Given the description of an element on the screen output the (x, y) to click on. 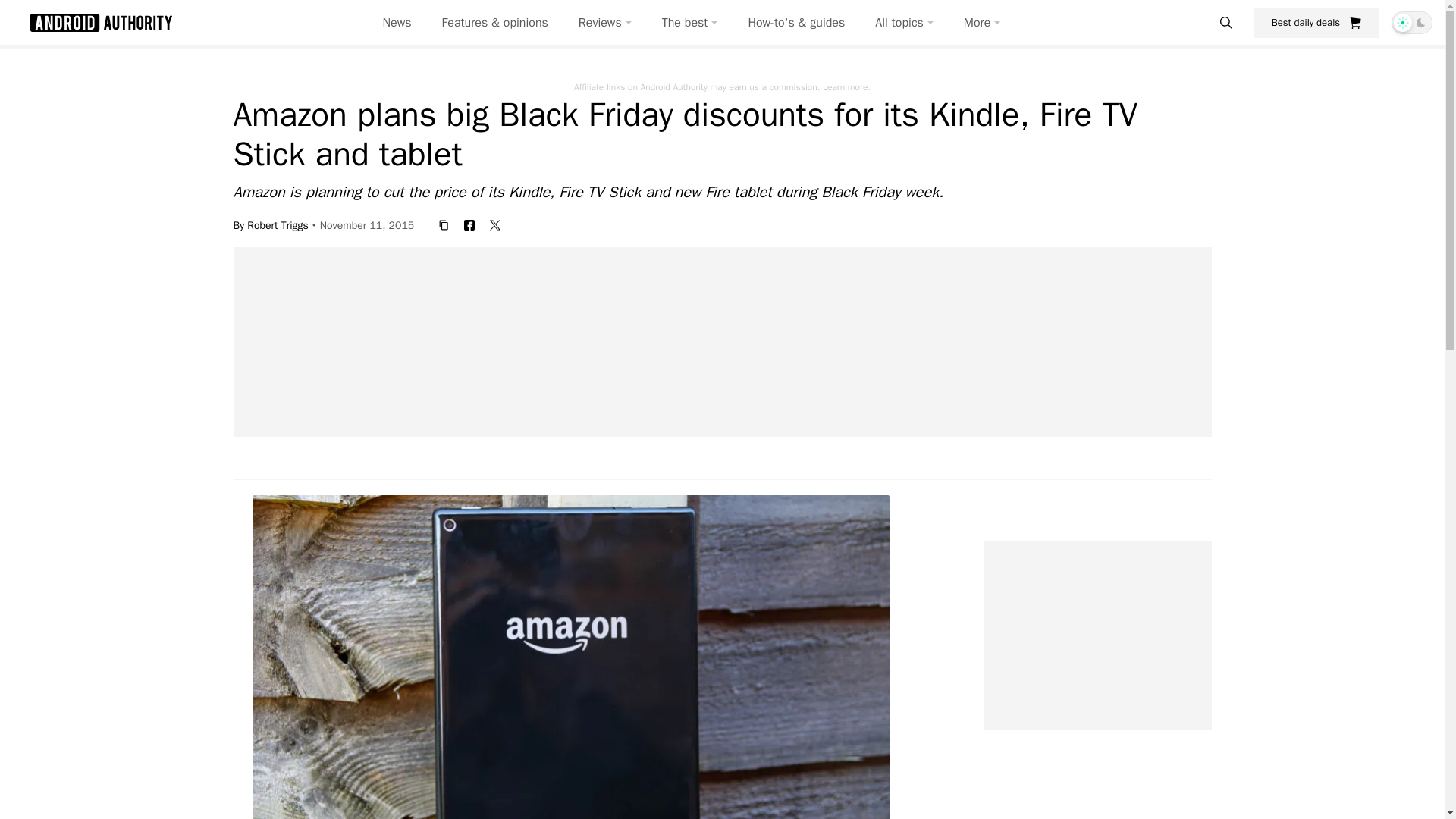
twitter (494, 225)
Best daily deals (1315, 22)
All topics (904, 22)
facebook (469, 225)
Reviews (604, 22)
Robert Triggs (277, 224)
Learn more. (846, 86)
The best (689, 22)
